Given the description of an element on the screen output the (x, y) to click on. 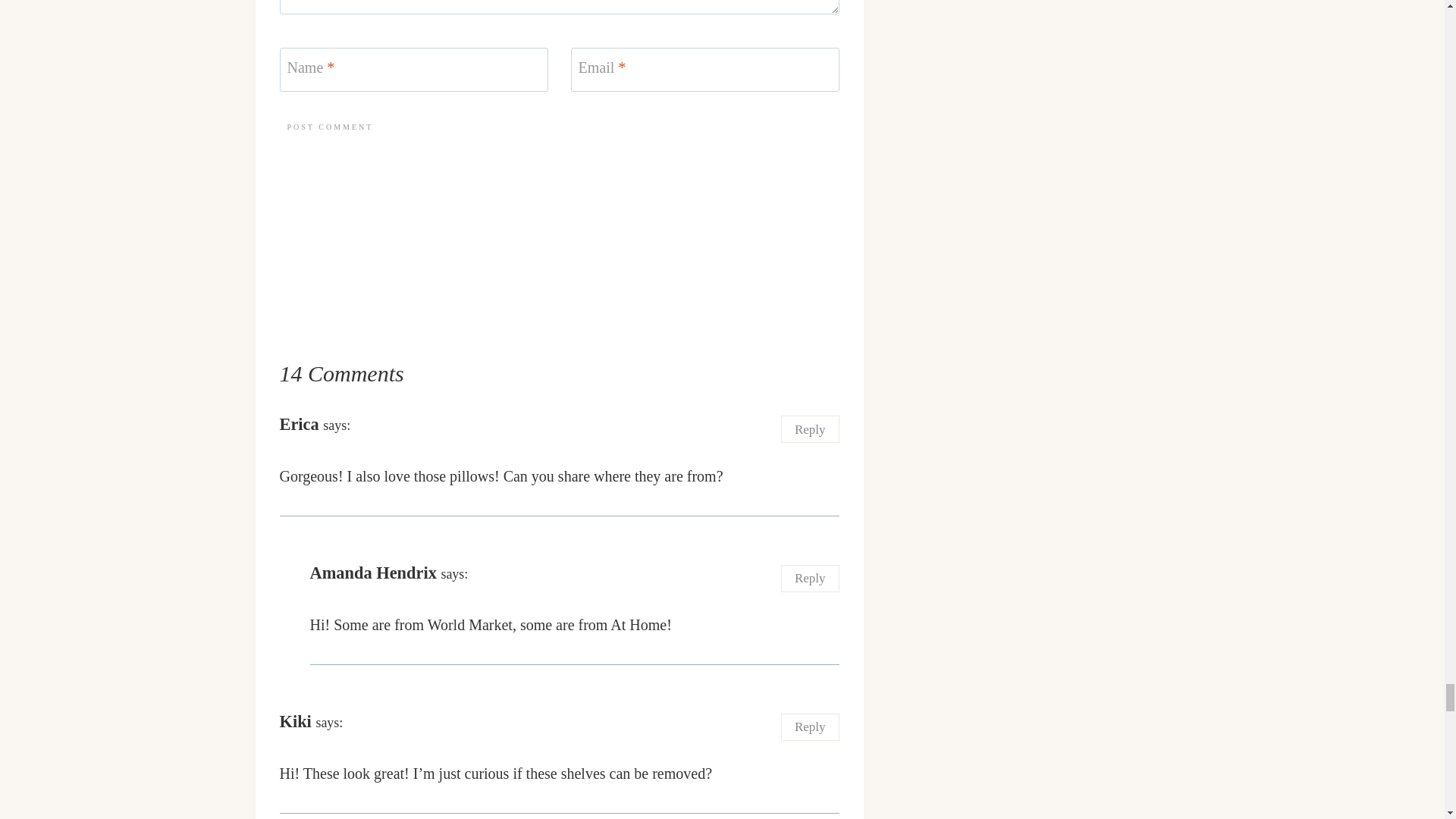
Post Comment (329, 126)
